Given the description of an element on the screen output the (x, y) to click on. 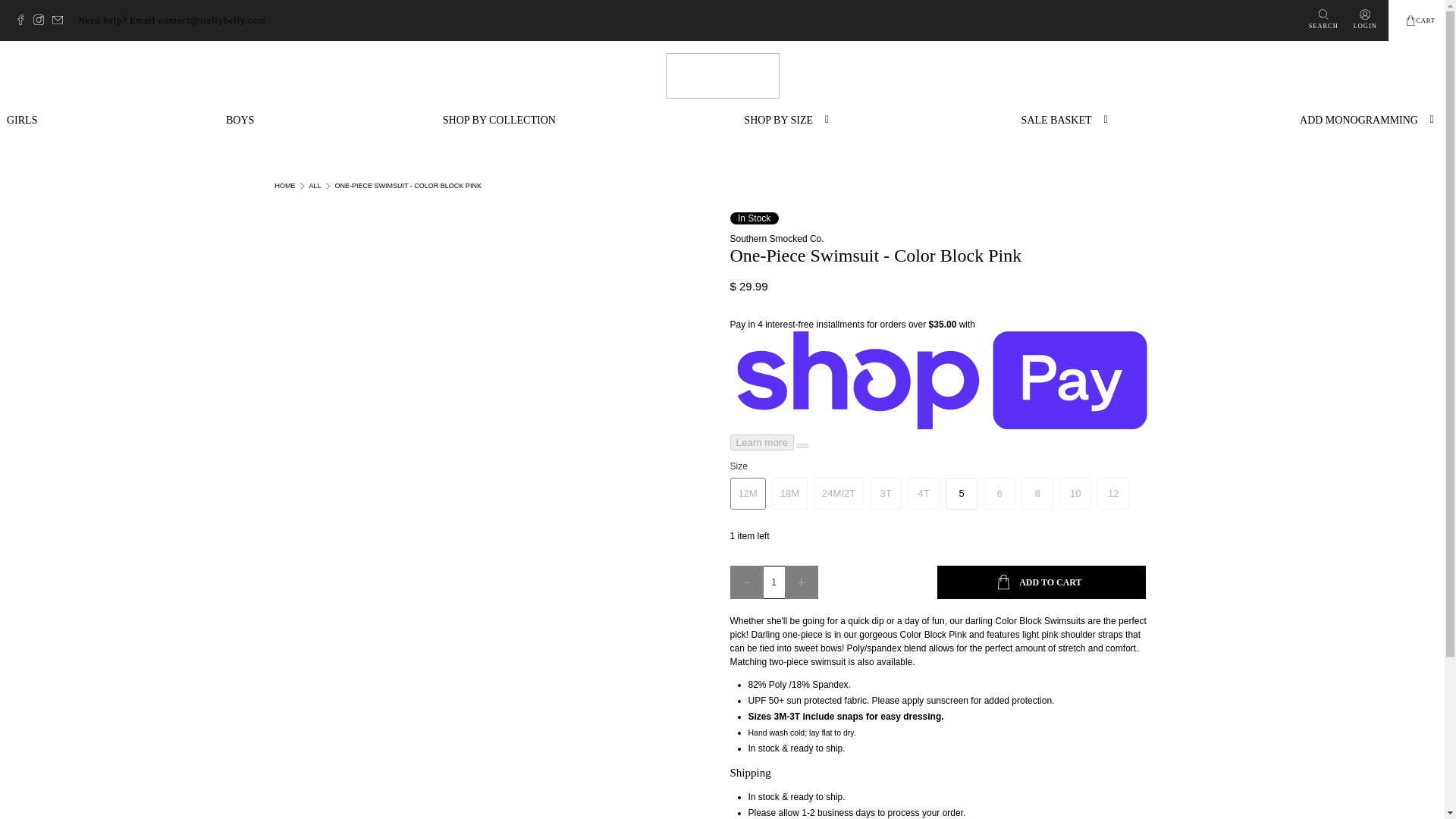
SHOP BY SIZE (788, 120)
Email Stellybelly (60, 21)
Stellybelly on Instagram (41, 21)
BOYS (239, 120)
LOGIN (1364, 20)
Stellybelly (721, 75)
CART (1420, 20)
Stellybelly on Facebook (23, 21)
GIRLS (21, 120)
SHOP BY COLLECTION (498, 120)
SEARCH (1323, 20)
Southern Smocked Co. (776, 238)
Stellybelly (285, 185)
SALE BASKET (1066, 120)
